Given the description of an element on the screen output the (x, y) to click on. 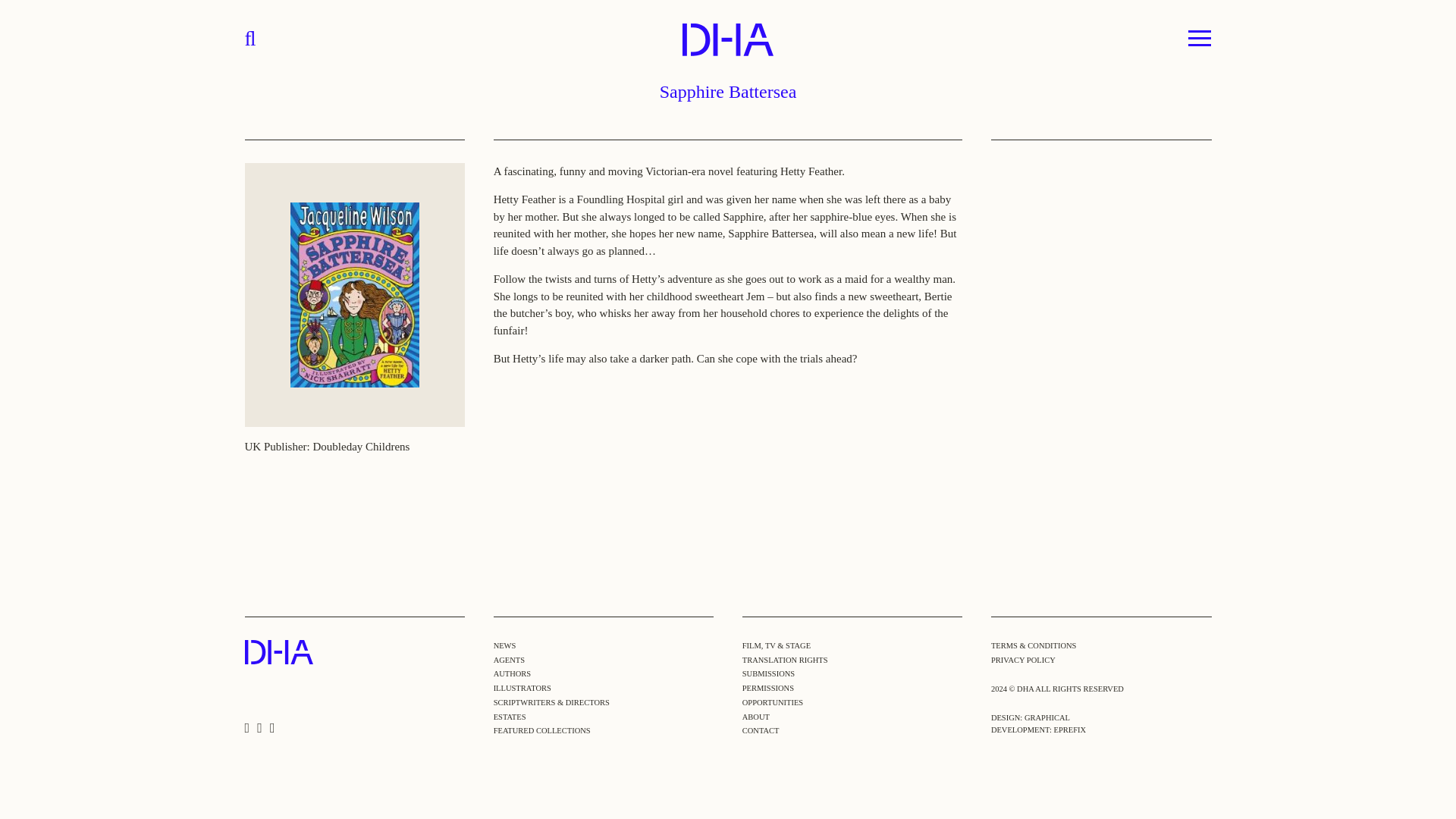
NEWS (504, 645)
TRANSLATION RIGHTS (785, 659)
GRAPHICAL (1047, 717)
ABOUT (756, 716)
ESTATES (509, 716)
OPPORTUNITIES (772, 702)
AUTHORS (512, 673)
ILLUSTRATORS (522, 687)
CONTACT (760, 730)
FEATURED COLLECTIONS (542, 730)
PRIVACY POLICY (1023, 659)
AGENTS (508, 659)
PERMISSIONS (767, 687)
SUBMISSIONS (768, 673)
